Given the description of an element on the screen output the (x, y) to click on. 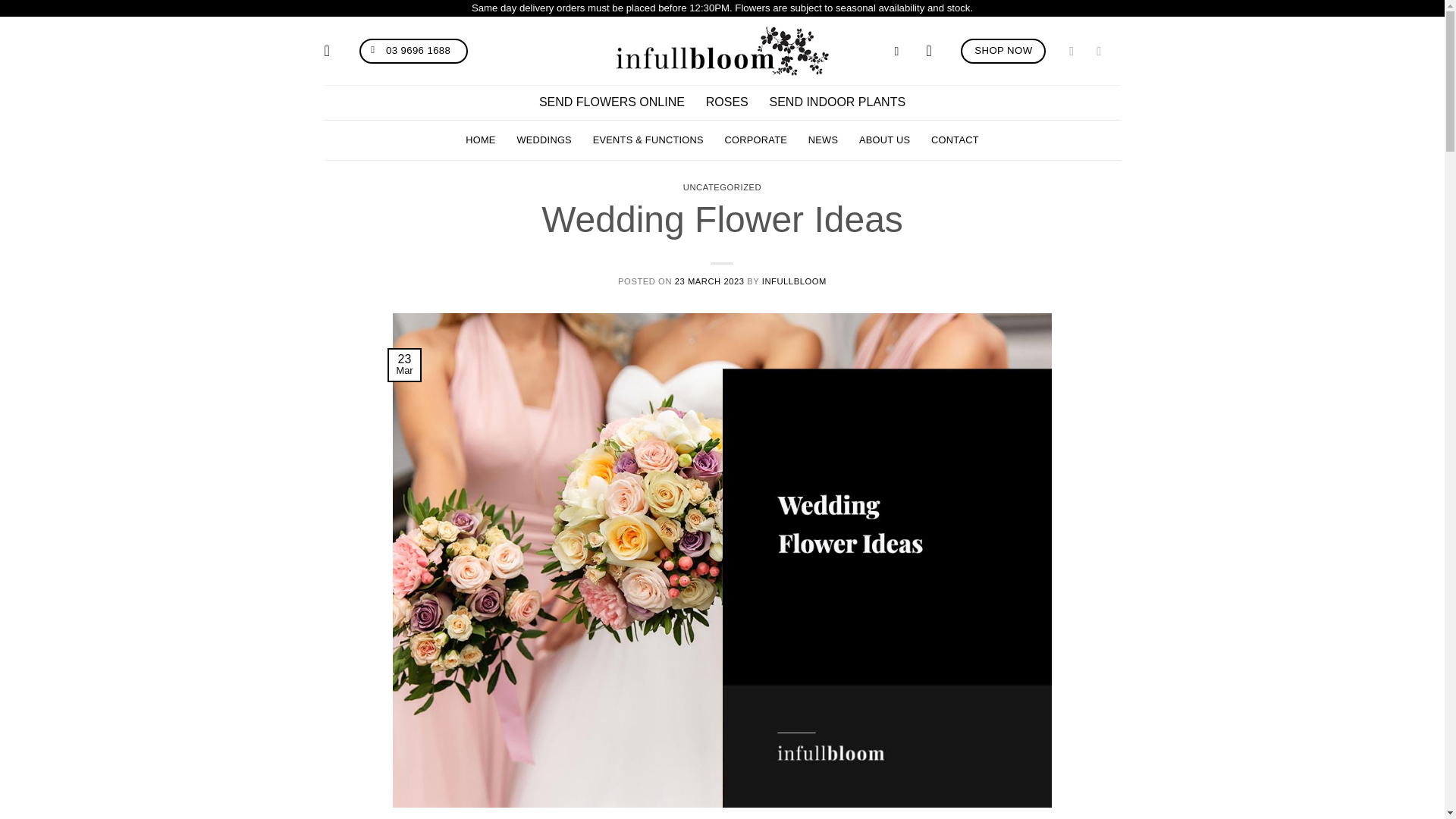
Follow on Facebook (1078, 50)
ABOUT US (884, 139)
23 MARCH 2023 (709, 280)
Send Flowers Online (611, 101)
Send Dried Flower (727, 101)
03 9696 1688 (413, 50)
SHOP NOW (1002, 50)
UNCATEGORIZED (721, 186)
INFULLBLOOM (794, 280)
Call Now (413, 50)
